Given the description of an element on the screen output the (x, y) to click on. 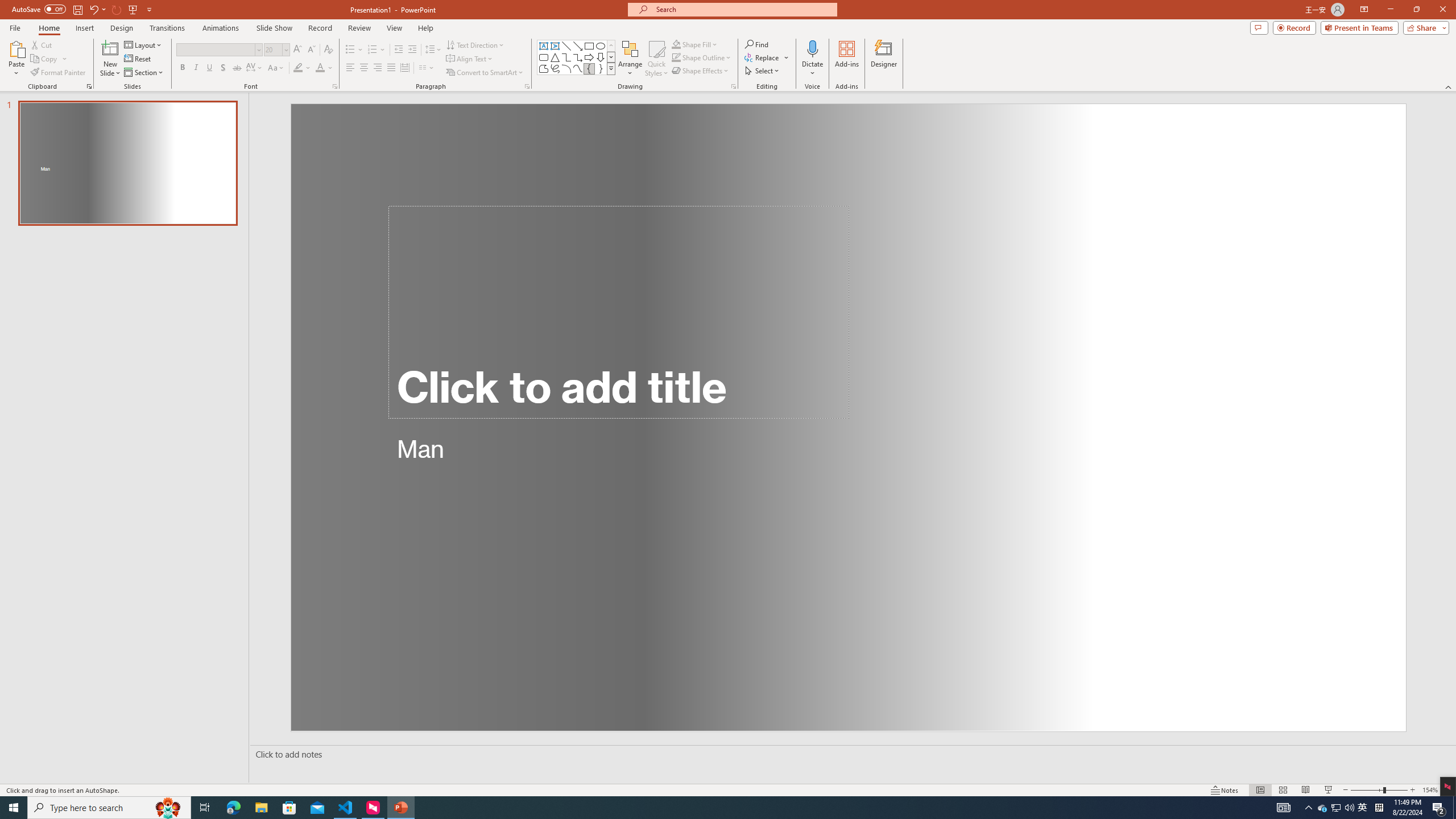
Italic (195, 67)
Strikethrough (237, 67)
Office Clipboard... (88, 85)
Shadow (223, 67)
Find... (756, 44)
